Given the description of an element on the screen output the (x, y) to click on. 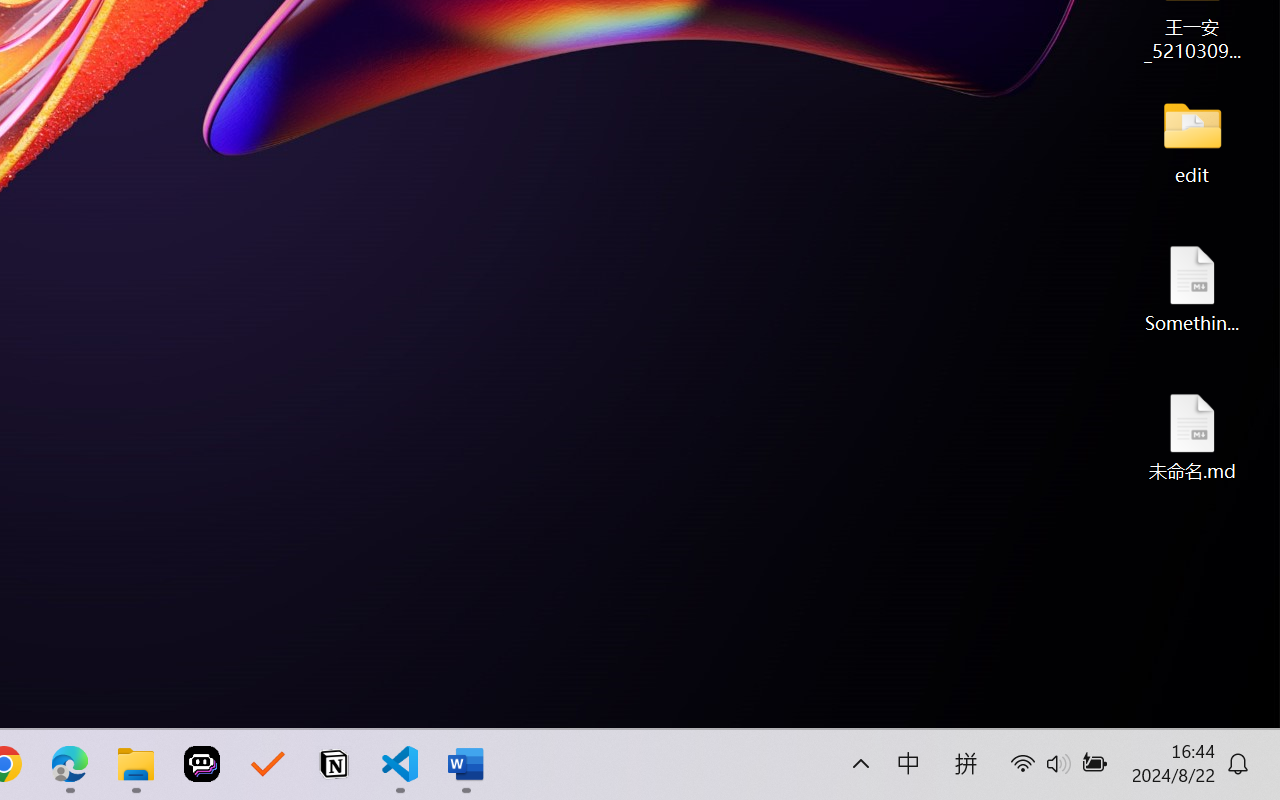
edit (1192, 140)
Something.md (1192, 288)
